Given the description of an element on the screen output the (x, y) to click on. 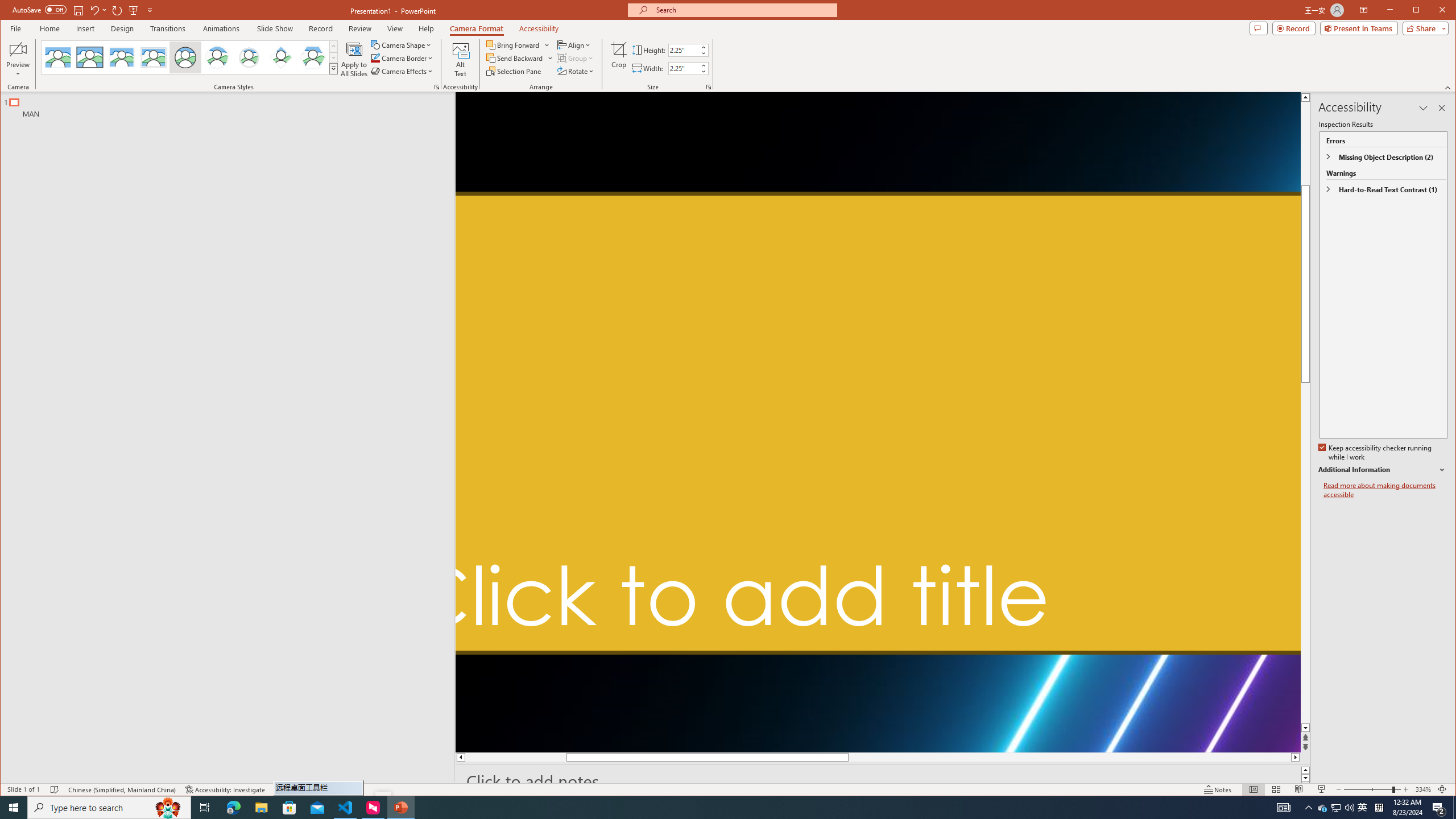
Bring Forward (513, 44)
Camera Border (402, 57)
Apply to All Slides (354, 59)
AutomationID: CameoStylesGallery (189, 57)
Send Backward (520, 57)
Camera Shape (402, 44)
